Given the description of an element on the screen output the (x, y) to click on. 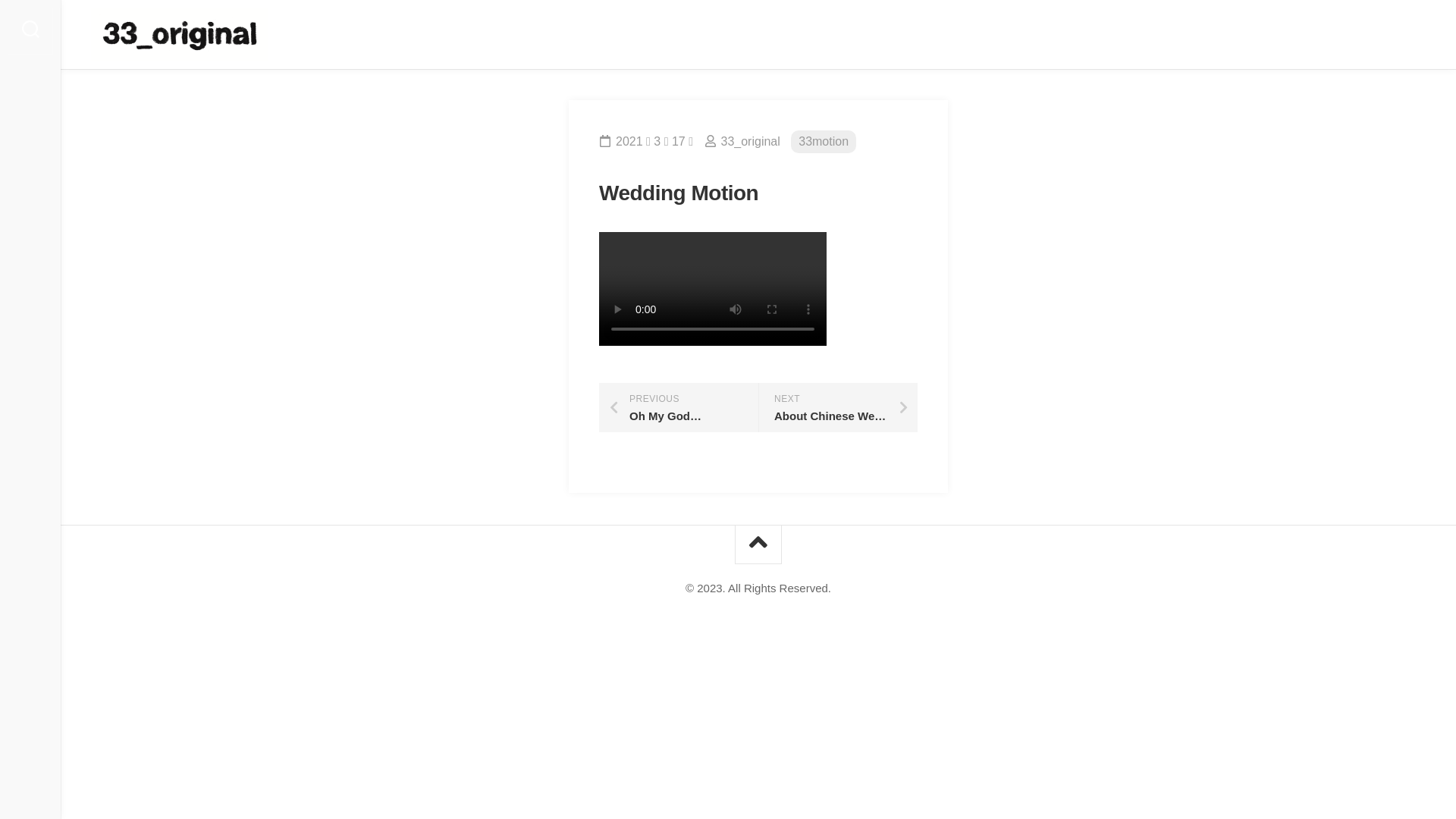
33motion Element type: text (823, 141)
33_original Element type: text (749, 140)
